Given the description of an element on the screen output the (x, y) to click on. 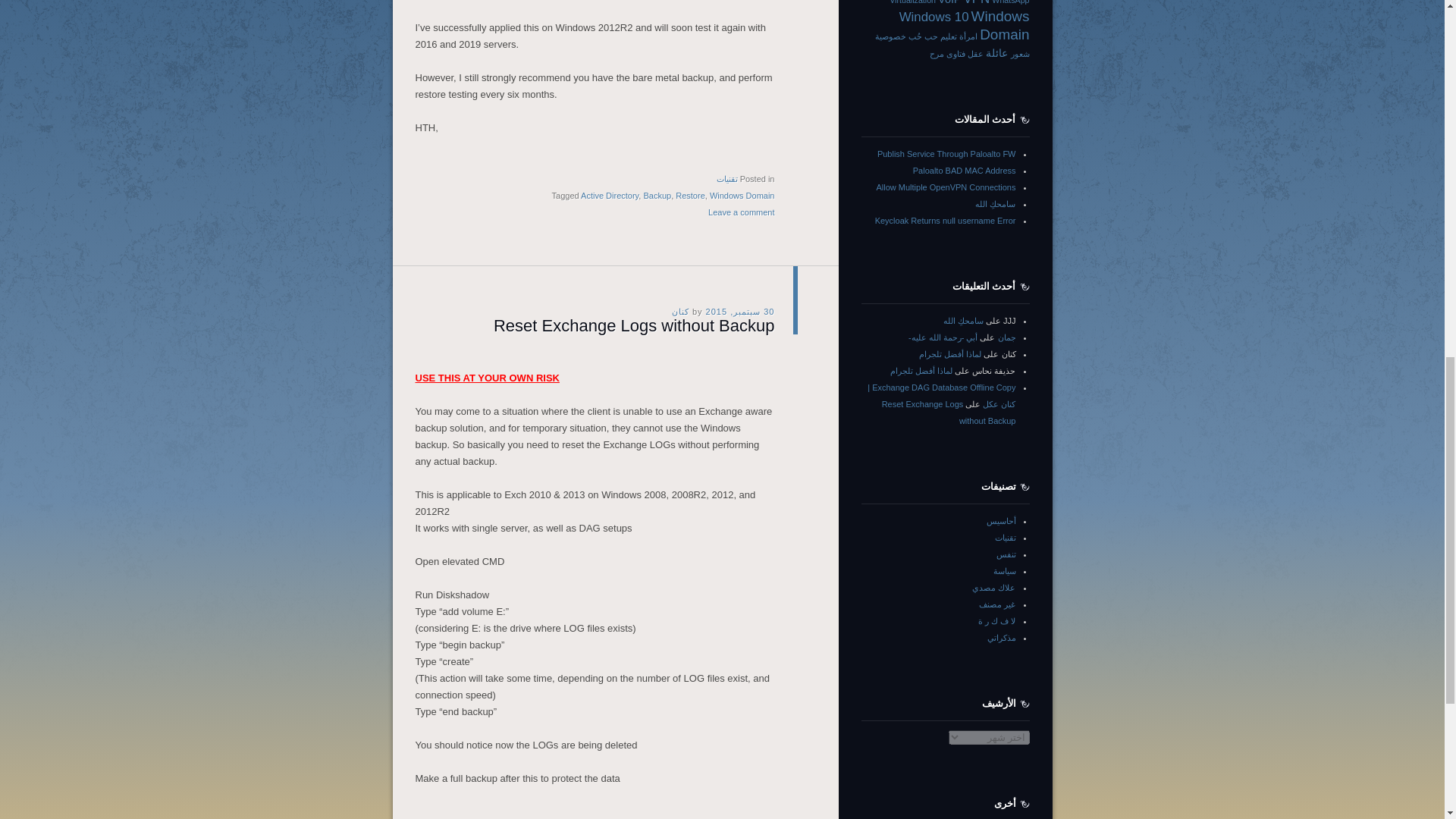
Leave a comment (740, 212)
20:05 (740, 310)
Windows Domain (742, 194)
Backup (657, 194)
Restore (689, 194)
Reset Exchange Logs without Backup (633, 324)
Active Directory (609, 194)
